Given the description of an element on the screen output the (x, y) to click on. 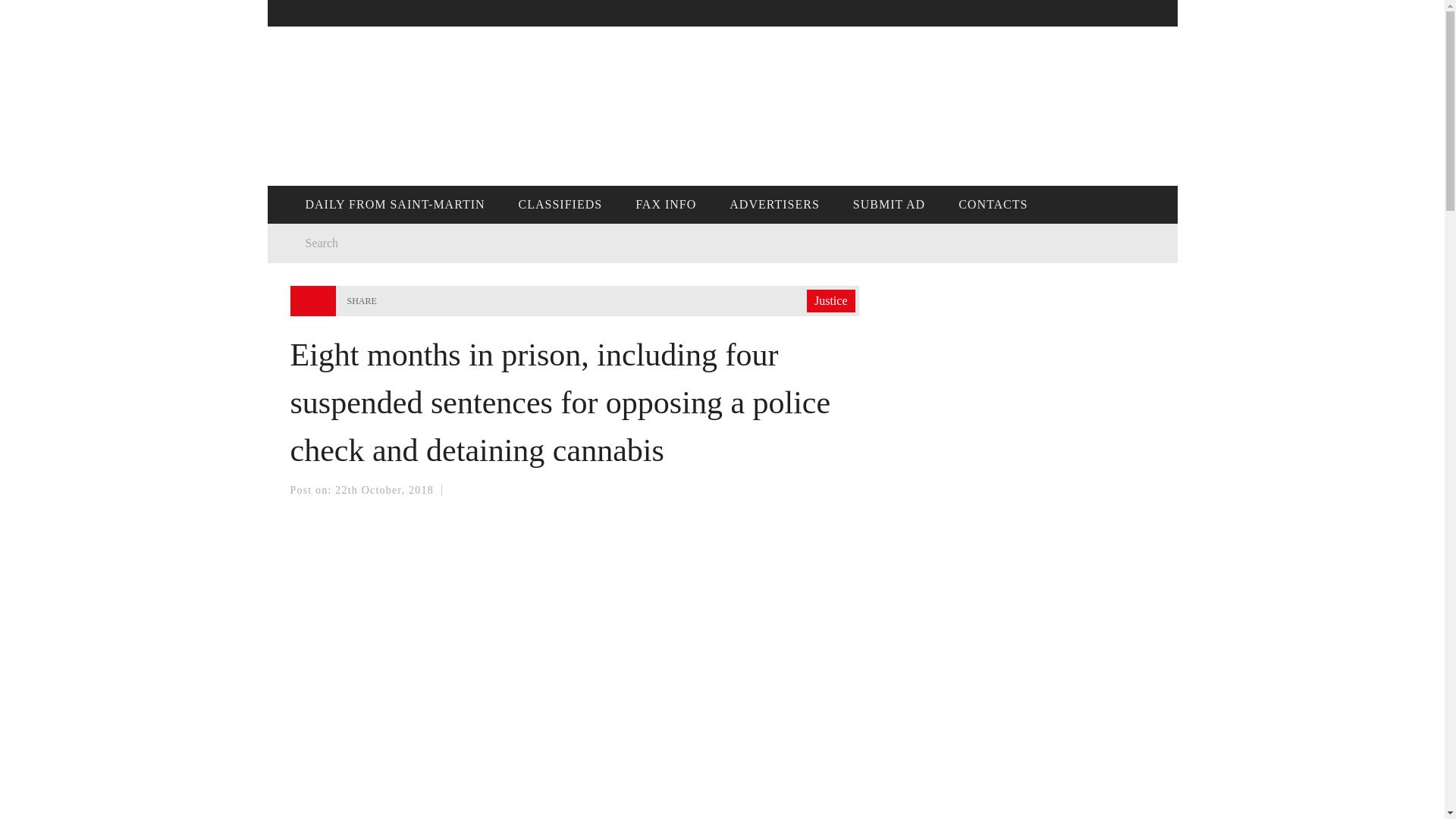
ADVERTISERS (774, 204)
Search (494, 242)
FAX INFO (665, 204)
DAILY FROM SAINT-MARTIN (394, 204)
CLASSIFIEDS (560, 204)
